Given the description of an element on the screen output the (x, y) to click on. 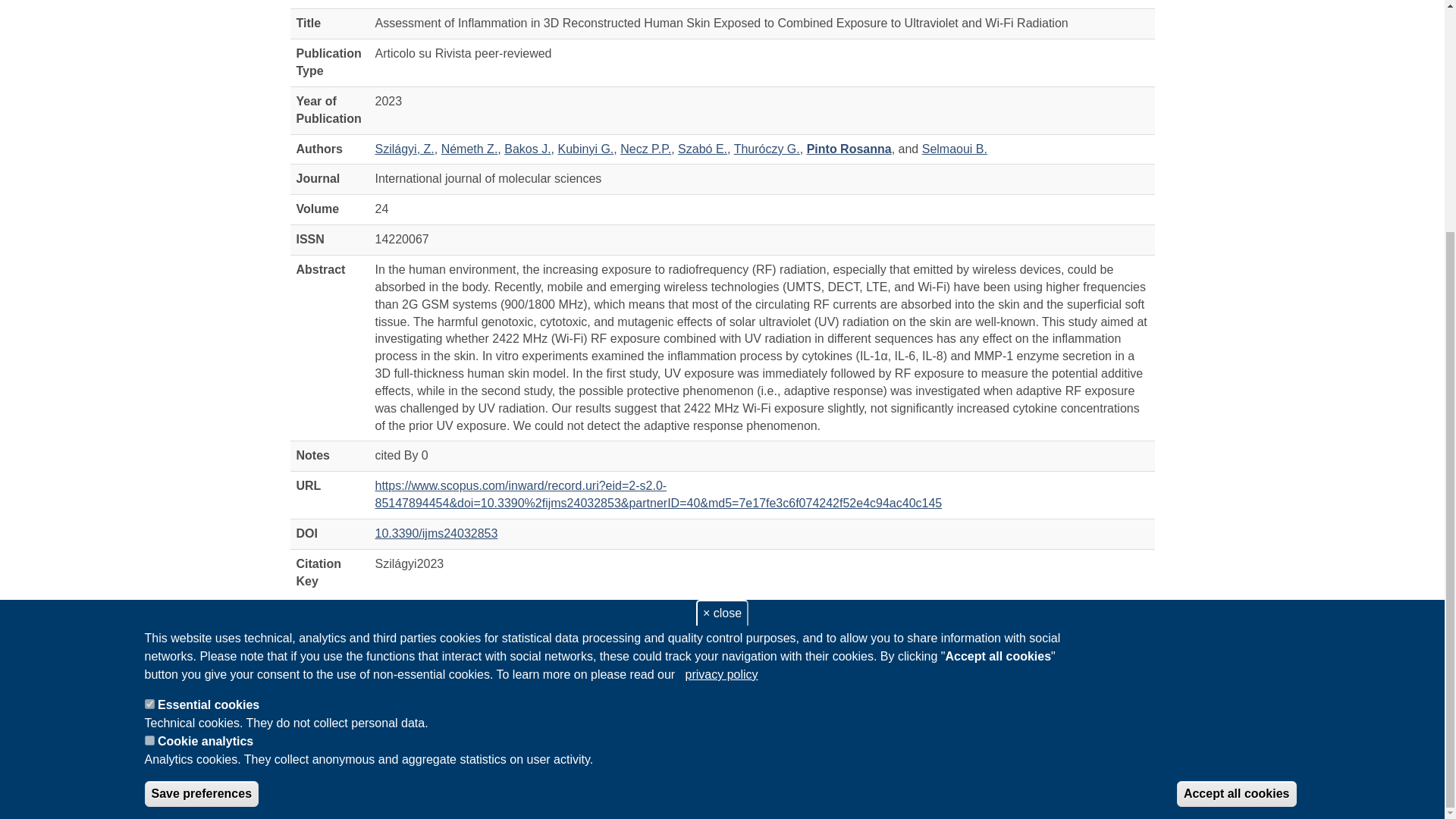
Necz P.P. (645, 148)
Kubinyi G. (584, 148)
Pinto Rosanna (848, 148)
Bakos J. (526, 148)
